Given the description of an element on the screen output the (x, y) to click on. 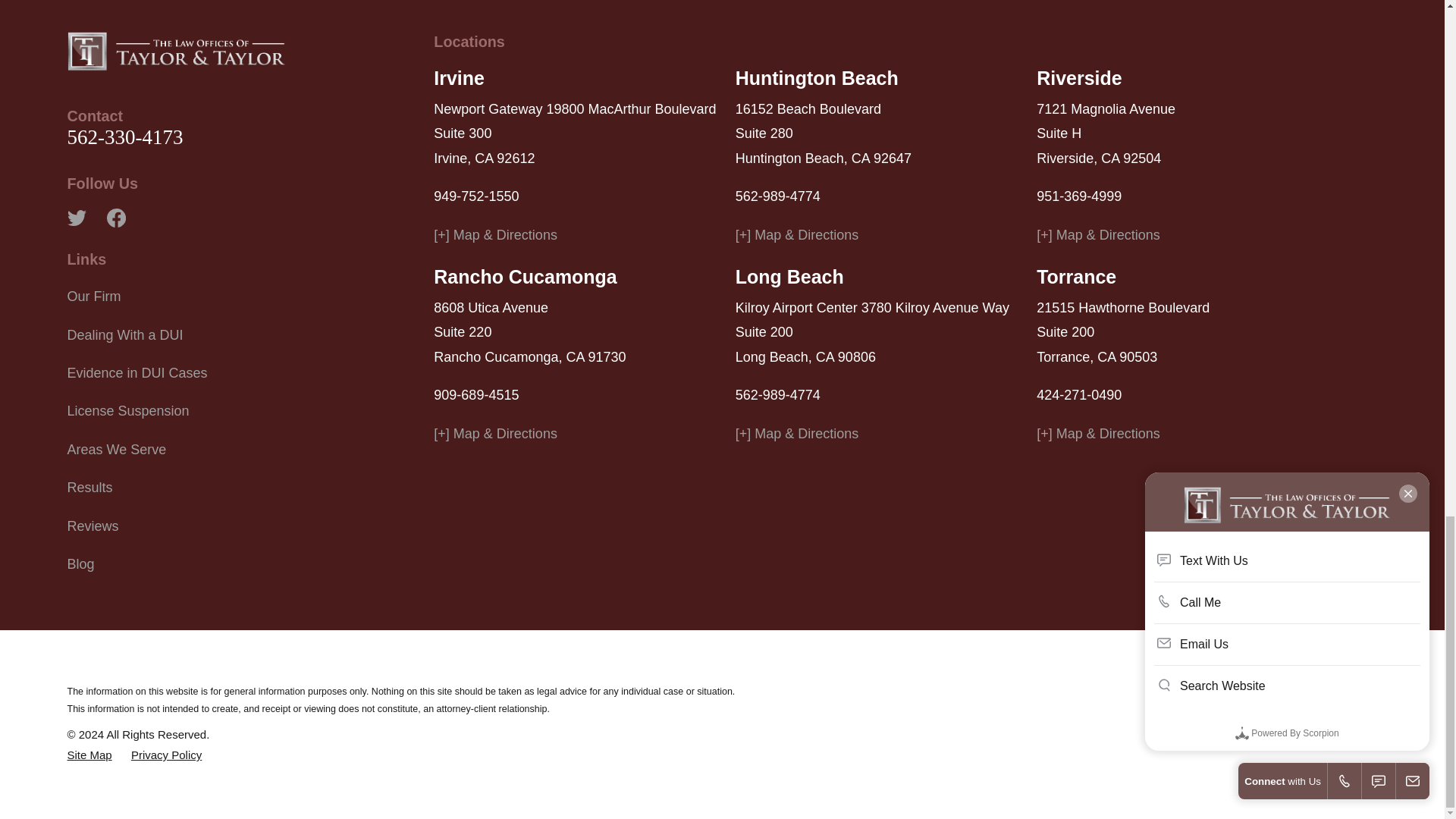
Facebook (115, 217)
Home (175, 50)
Twitter (75, 217)
